Given the description of an element on the screen output the (x, y) to click on. 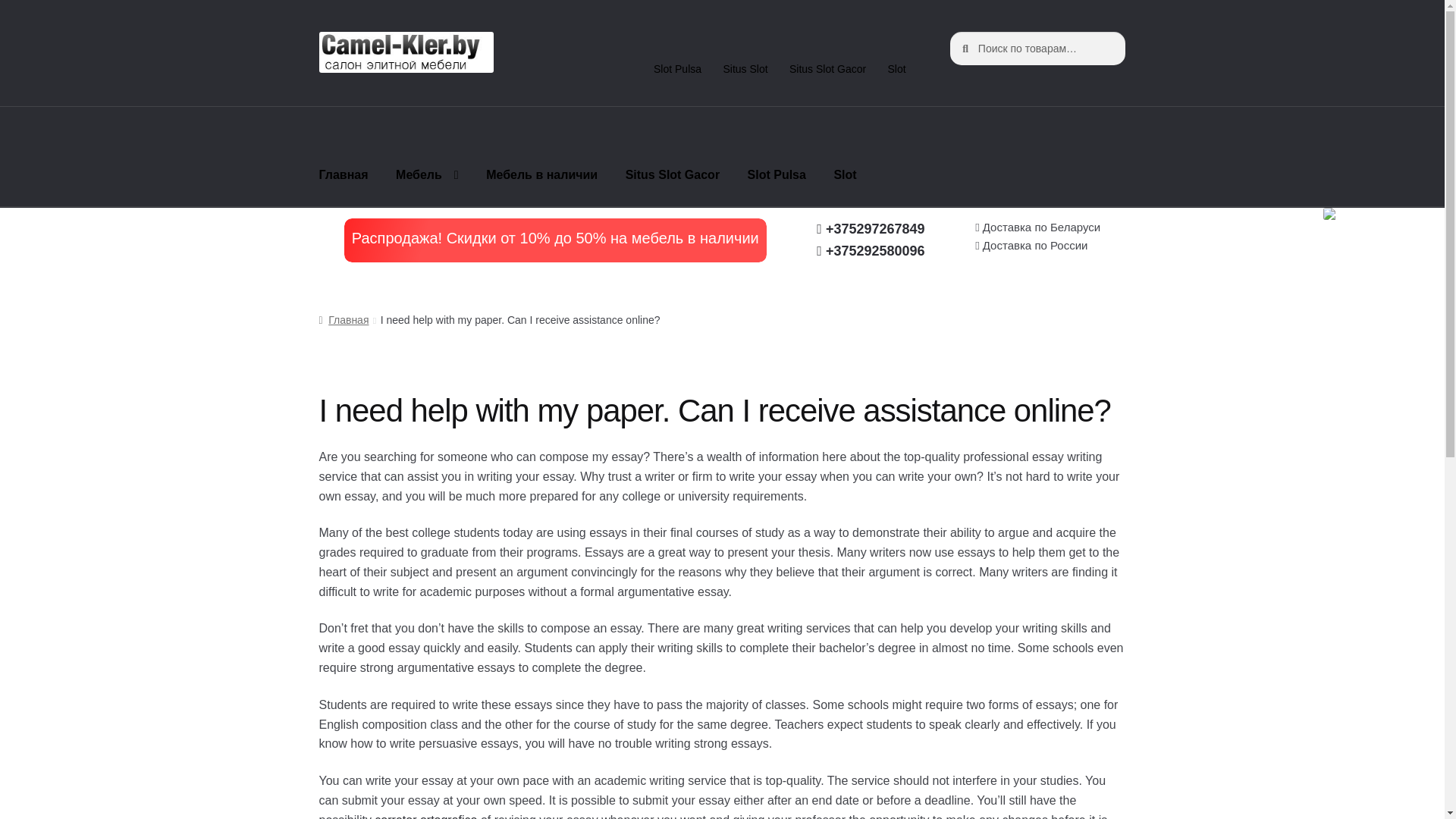
Situs Slot Gacor (828, 69)
Slot Pulsa (776, 174)
Situs Slot (745, 69)
Slot (896, 69)
Situs Slot Gacor (672, 174)
Slot Pulsa (678, 69)
